Given the description of an element on the screen output the (x, y) to click on. 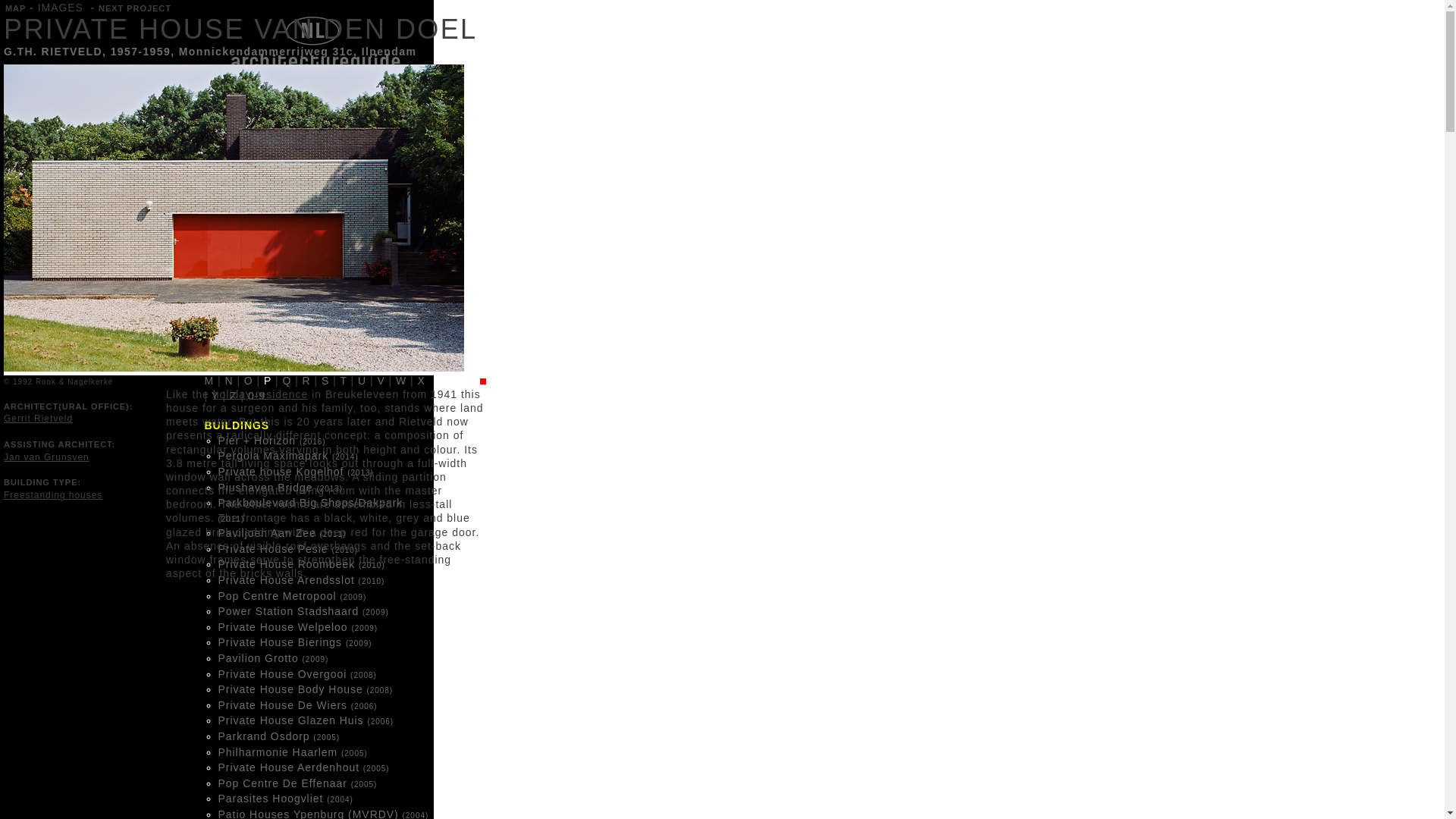
BUILDING TYPES (262, 153)
INFO (287, 80)
NL (349, 80)
TOP 10 (231, 221)
CITIES (231, 175)
BUILDINGS (243, 130)
EN (322, 80)
TOP 100 (235, 243)
MAP (223, 198)
RECENTLY ADDED (266, 266)
